Given the description of an element on the screen output the (x, y) to click on. 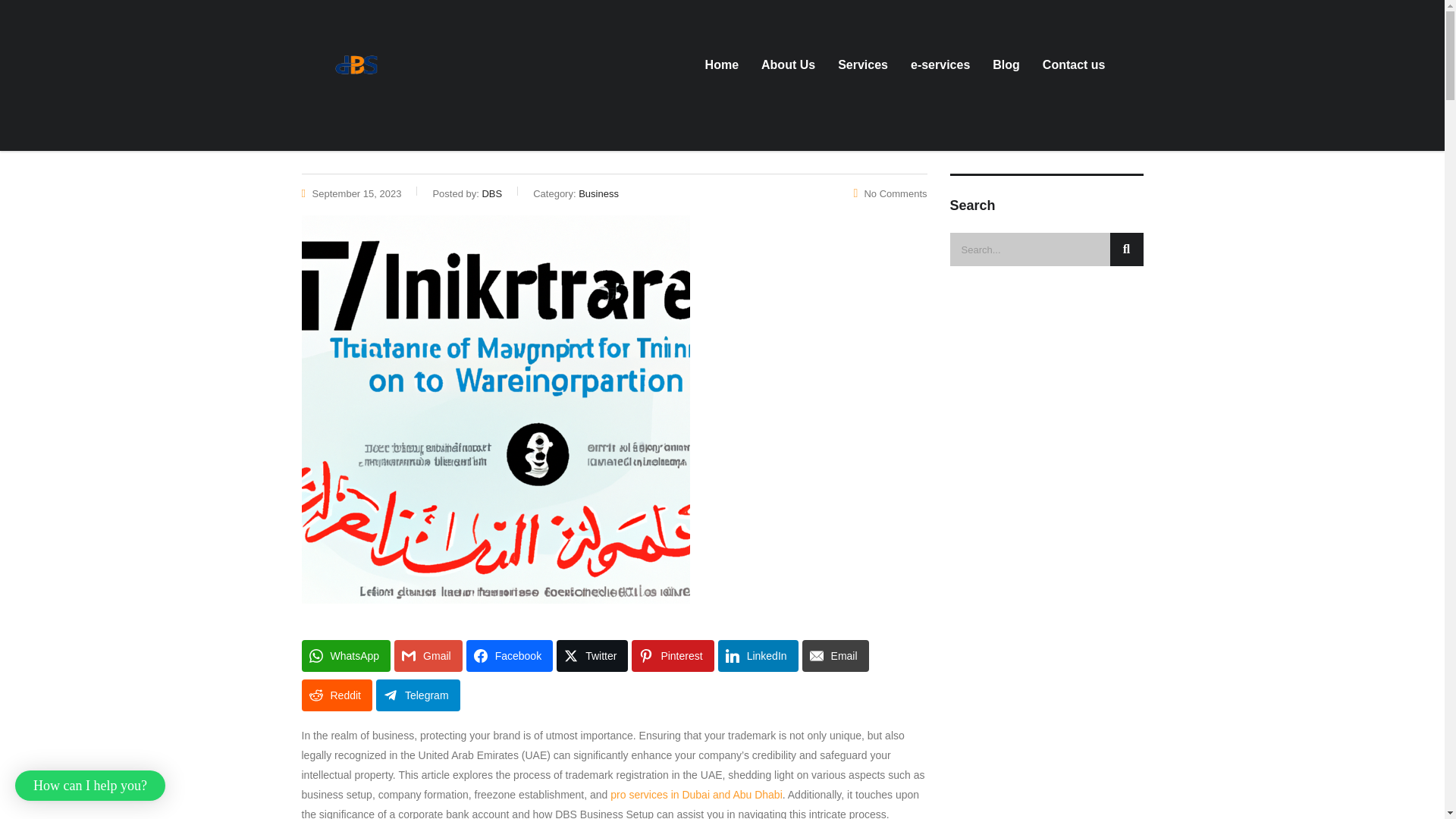
Home (721, 64)
Share on Reddit (336, 695)
Facebook (509, 655)
Share on LinkedIn (757, 655)
Share on Facebook (509, 655)
Share on Email (835, 655)
LinkedIn (757, 655)
Email (835, 655)
Share on Twitter (591, 655)
Contact us (1073, 64)
Reddit (336, 695)
pro services in Dubai and Abu Dhabi (695, 794)
No Comments (890, 193)
Share on Telegram (417, 695)
Share on Pinterest (672, 655)
